Given the description of an element on the screen output the (x, y) to click on. 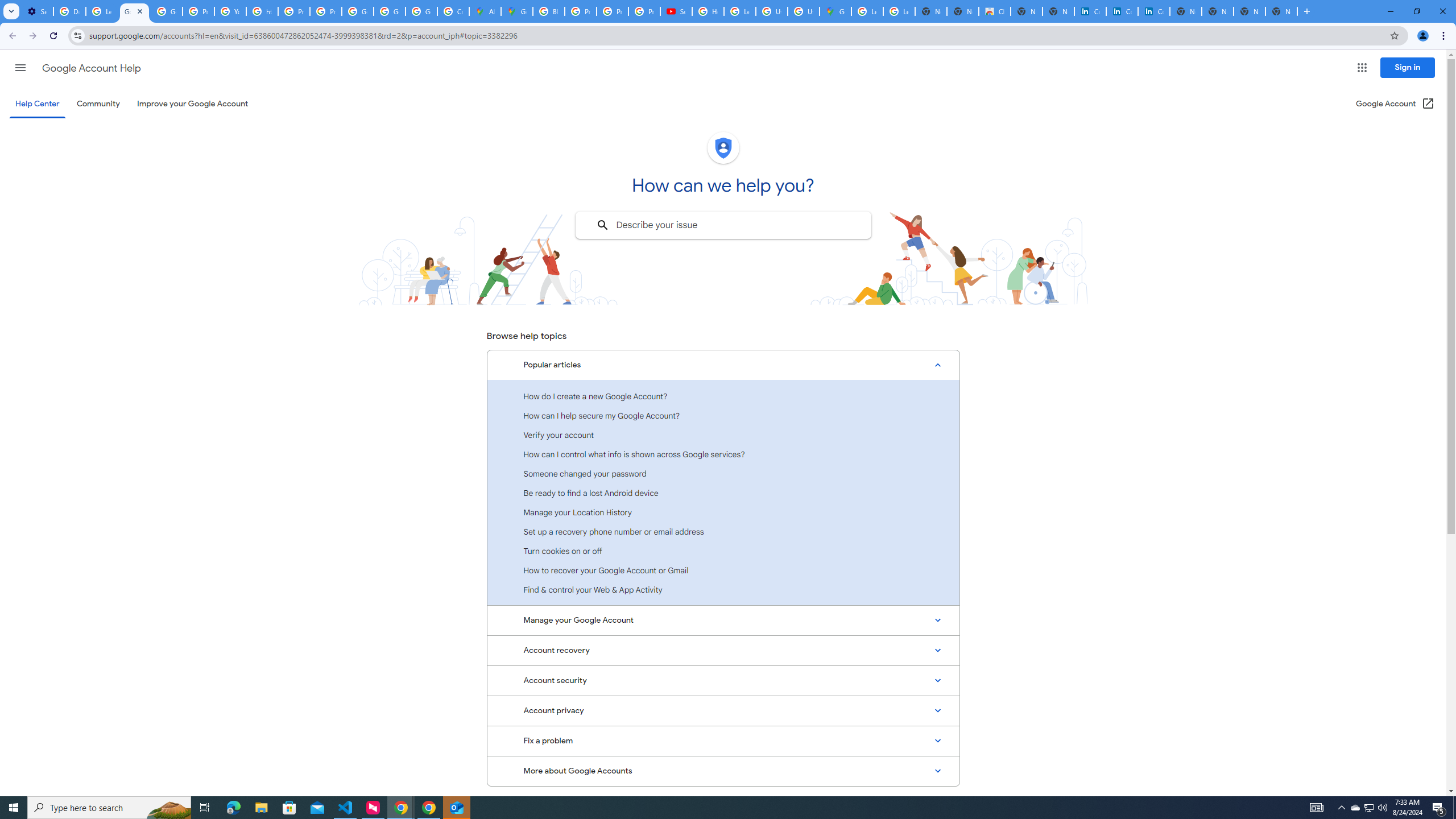
How can I help secure my Google Account? (722, 415)
More about Google Accounts (722, 771)
Blogger Policies and Guidelines - Transparency Center (548, 11)
How do I create a new Google Account? (722, 396)
YouTube (230, 11)
Manage your Google Account (722, 620)
Main menu (20, 67)
Settings - Customize profile (37, 11)
Chrome Web Store (995, 11)
How to recover your Google Account or Gmail (722, 570)
